Given the description of an element on the screen output the (x, y) to click on. 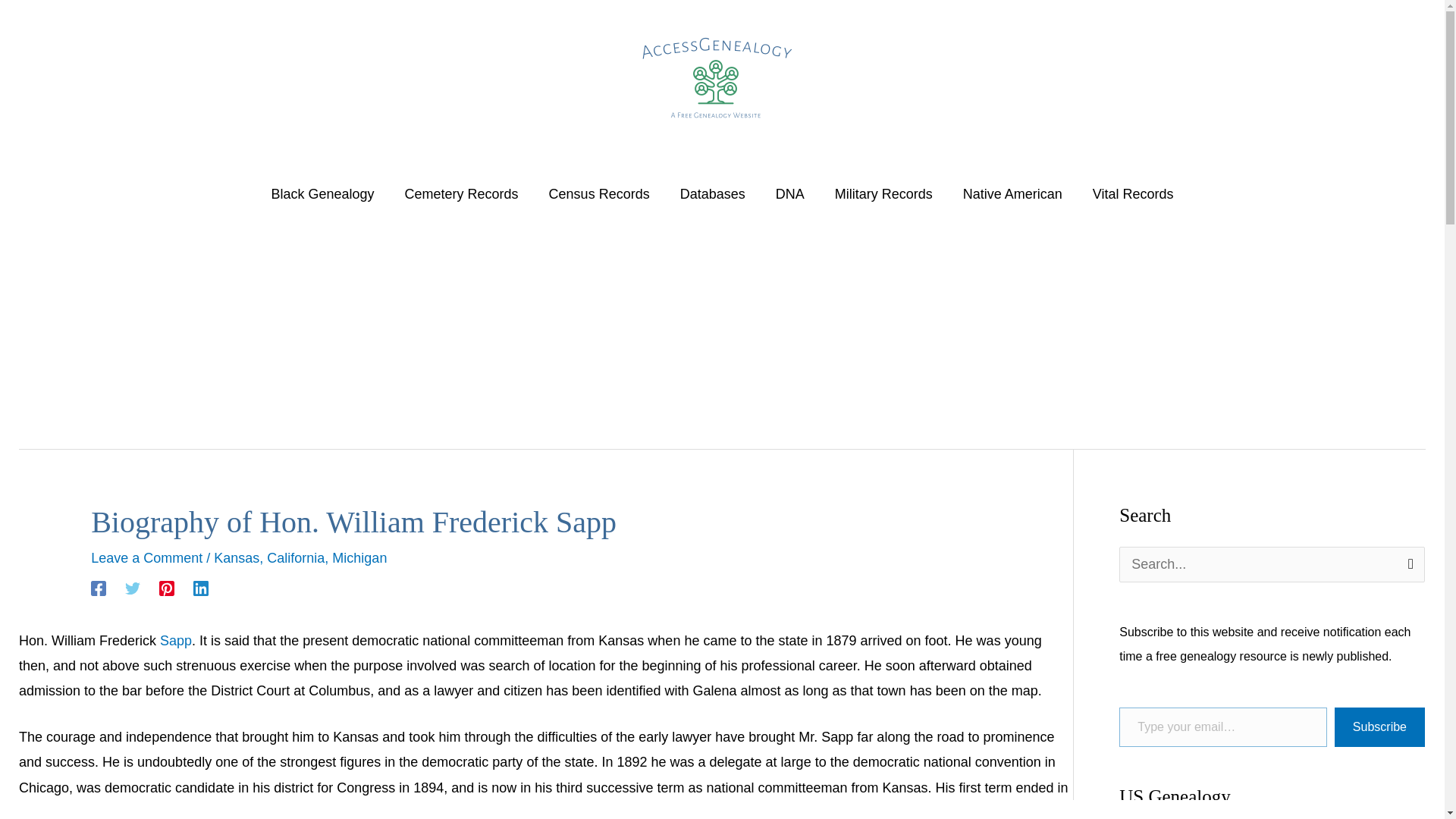
Michigan (359, 557)
Kansas (236, 557)
Military Records (883, 194)
Sapp (176, 640)
United States Vital Records (1133, 194)
DNA (789, 194)
Census Records (599, 194)
DNA (789, 194)
Cemetery Records (462, 194)
United States Military Records (883, 194)
Native American History and Genealogy (1012, 194)
Vital Records (1133, 194)
Native American (1012, 194)
Please fill in this field. (1222, 727)
